Given the description of an element on the screen output the (x, y) to click on. 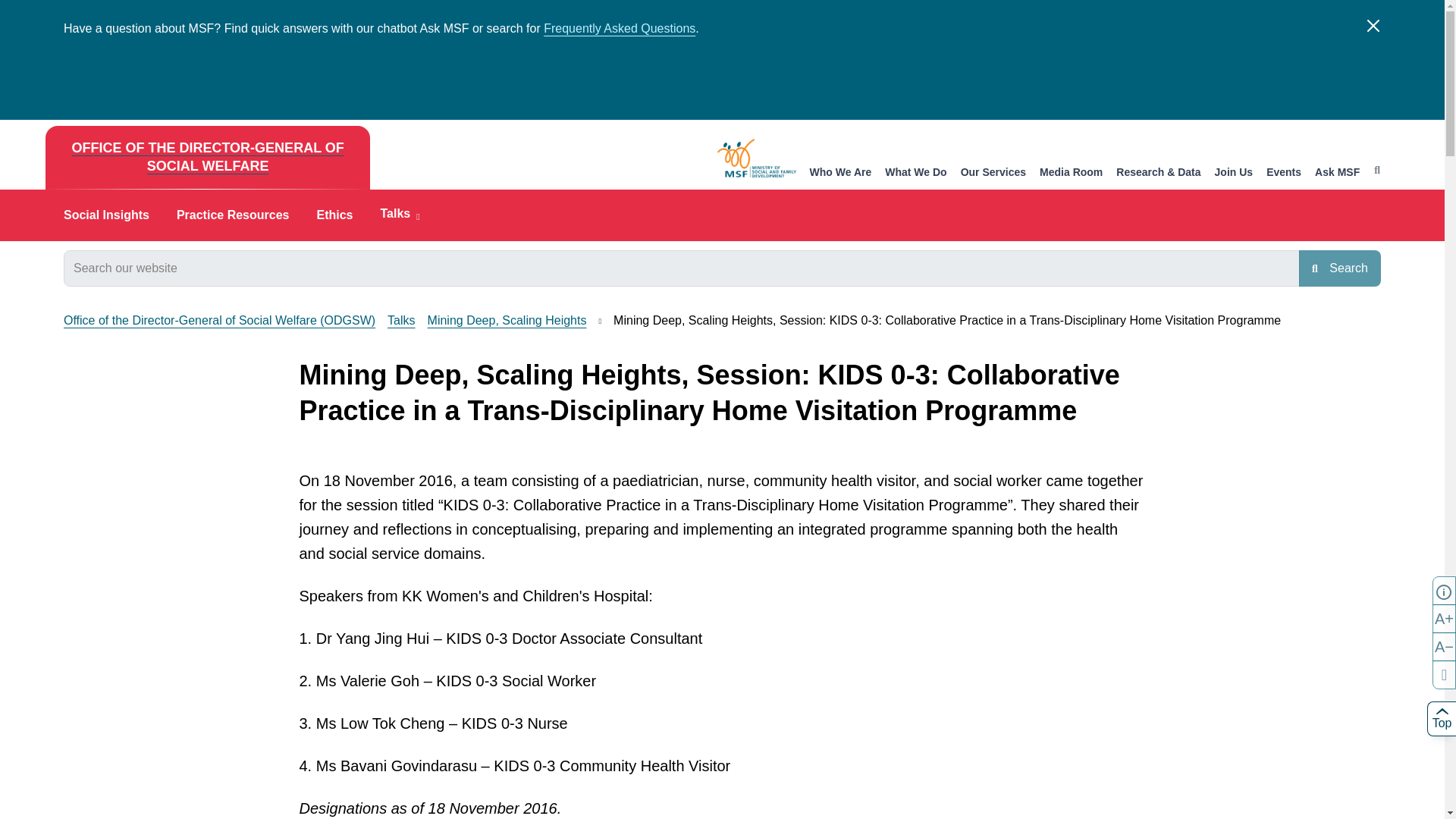
MSF logo (756, 157)
Our Services (993, 172)
Who We Are (840, 172)
OFFICE OF THE DIRECTOR-GENERAL OF SOCIAL WELFARE (207, 157)
Media Room (1070, 172)
Join Us (1233, 172)
Ask MSF (1336, 172)
Frequently Asked Questions (619, 28)
What We Do (915, 172)
Events (1283, 172)
